Given the description of an element on the screen output the (x, y) to click on. 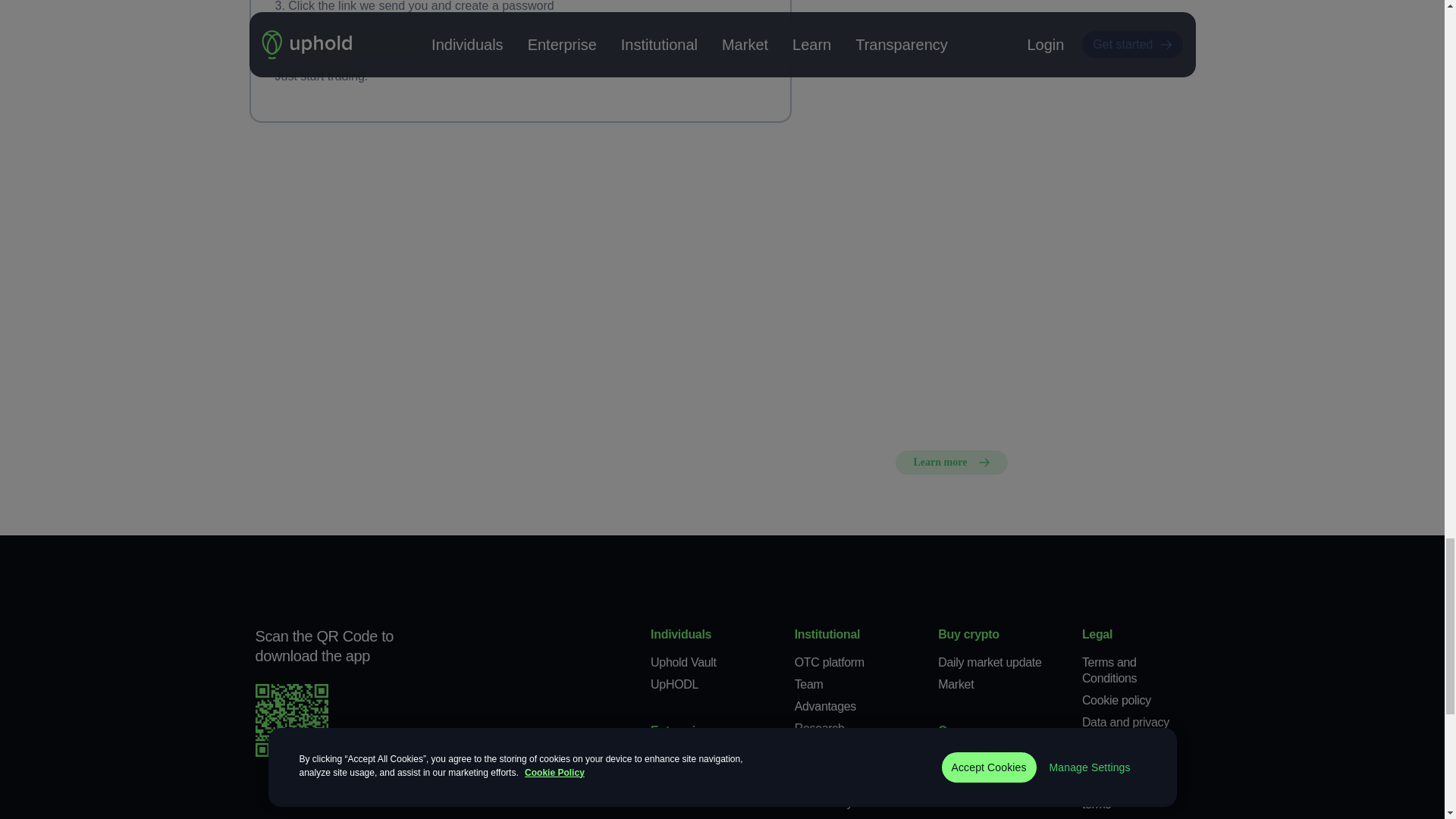
Enterprise (678, 730)
Topper (667, 758)
Individuals (680, 634)
Learn more (951, 462)
Uphold Vault (683, 662)
UpHODL (674, 684)
Business account (695, 802)
Optimus debit card (699, 780)
